Given the description of an element on the screen output the (x, y) to click on. 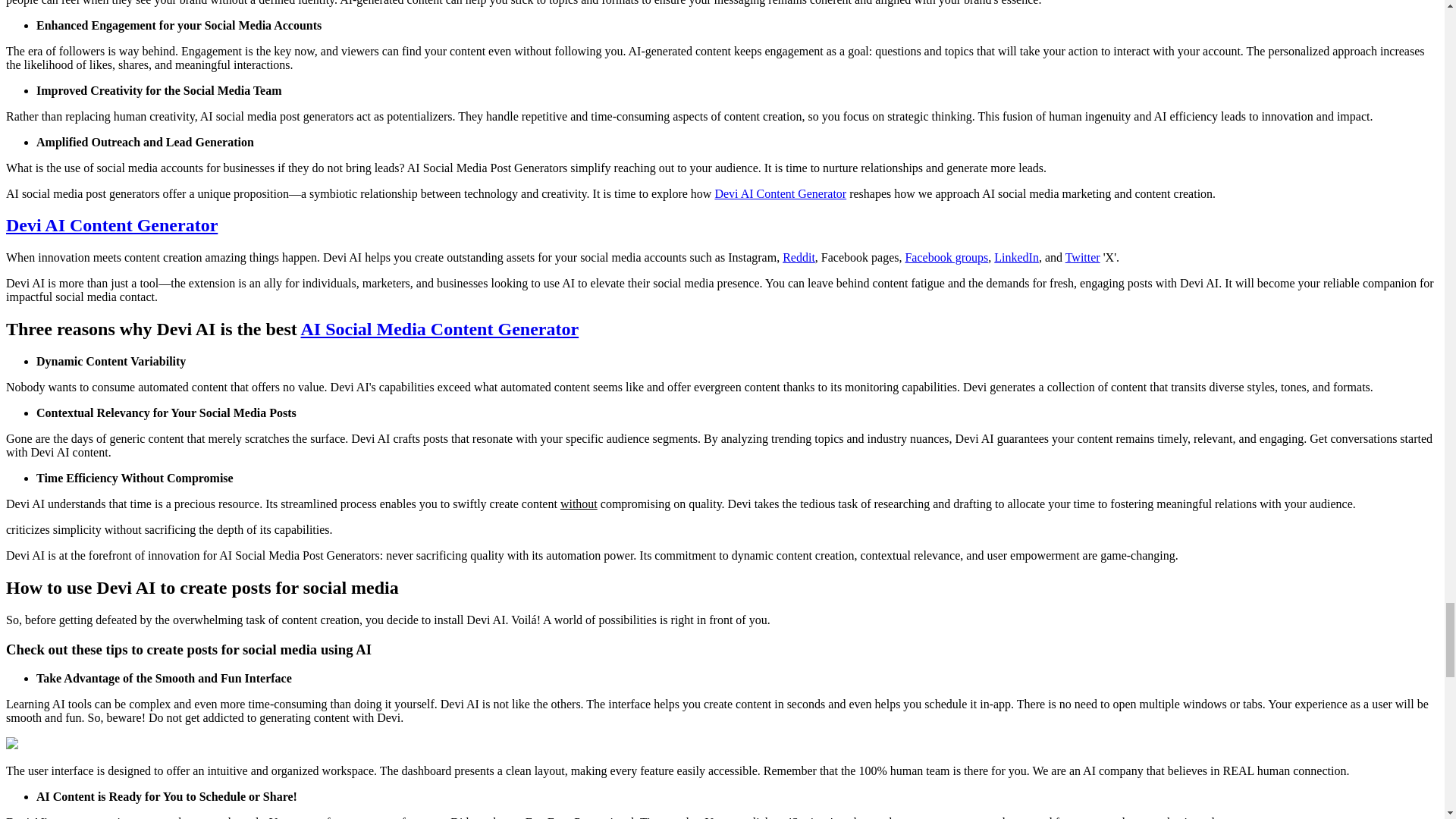
AI Social Media Content Generator (438, 329)
Reddit (799, 256)
Devi AI Content Generator (779, 192)
Devi AI Content Generator (110, 225)
LinkedIn (1016, 256)
Twitter (1082, 256)
Facebook groups (946, 256)
